Given the description of an element on the screen output the (x, y) to click on. 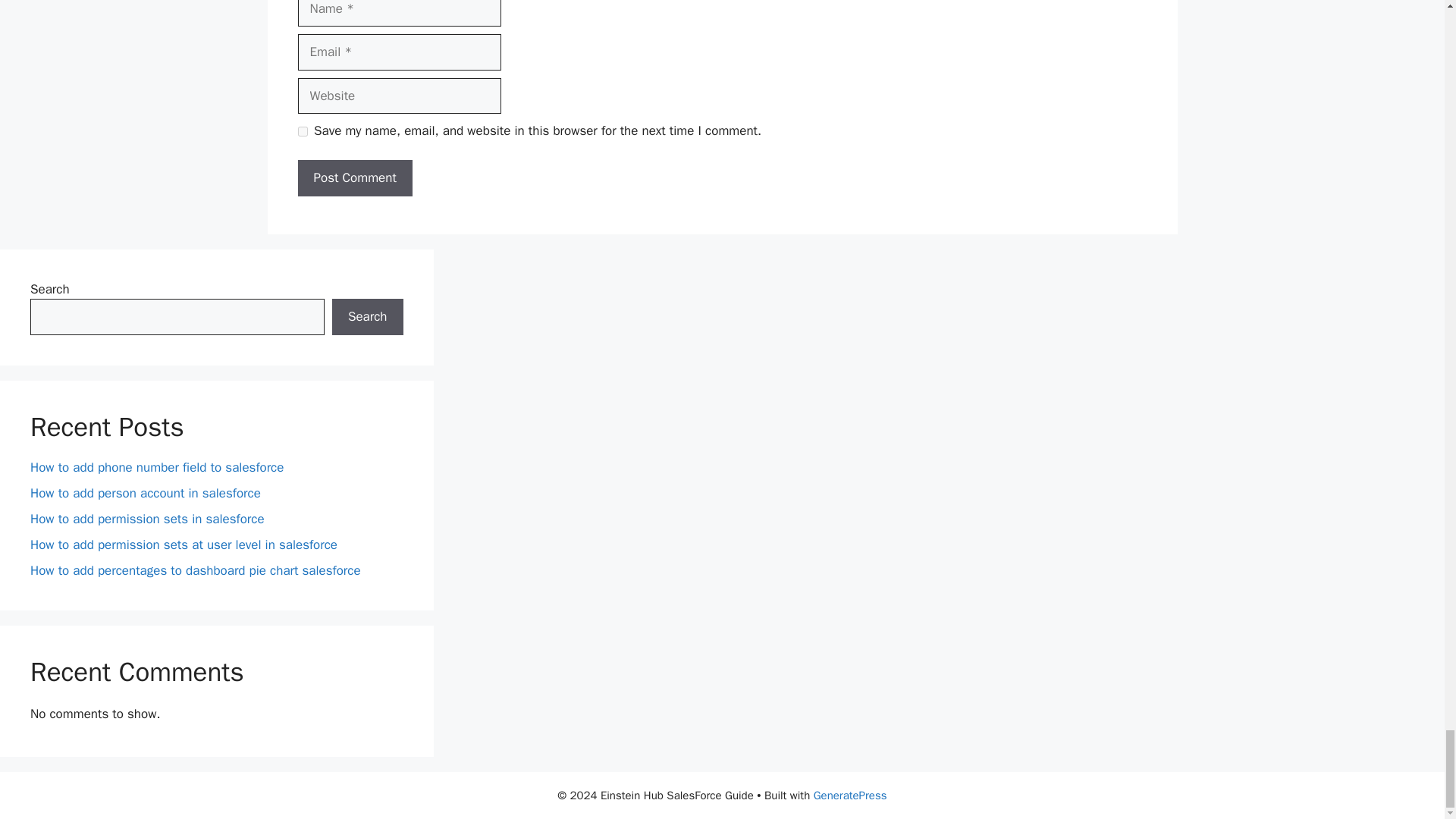
yes (302, 131)
Post Comment (354, 177)
